Given the description of an element on the screen output the (x, y) to click on. 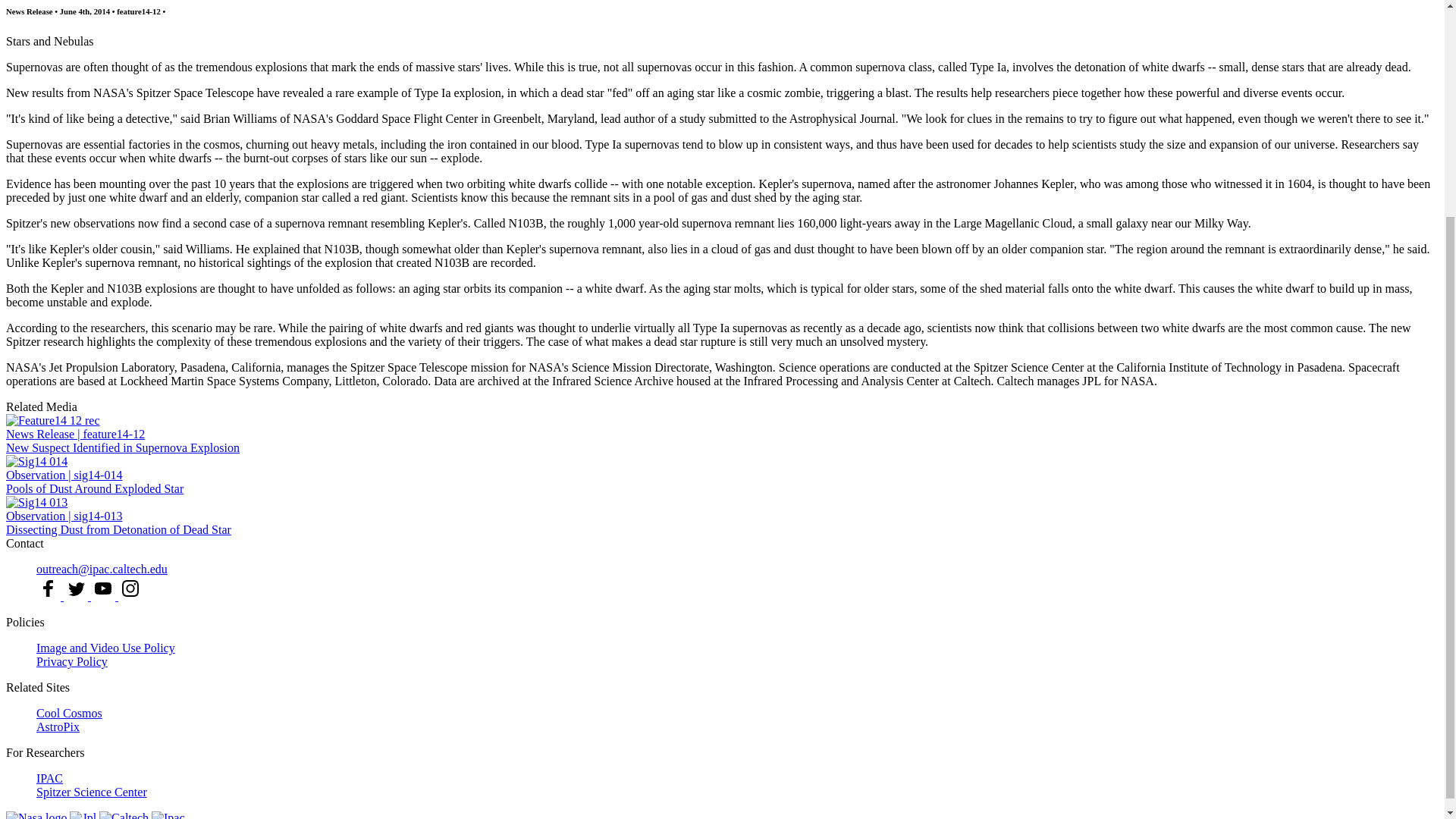
Follow on Instagram (129, 595)
Twitter (75, 588)
Follow on Facebook (50, 595)
Instagram (129, 588)
YouTube (102, 588)
Follow on Twitter (77, 595)
Instagram (129, 588)
Follow on YouTube (103, 595)
YouTube (102, 588)
Twitter (75, 588)
Facebook (48, 588)
Facebook (48, 588)
